Given the description of an element on the screen output the (x, y) to click on. 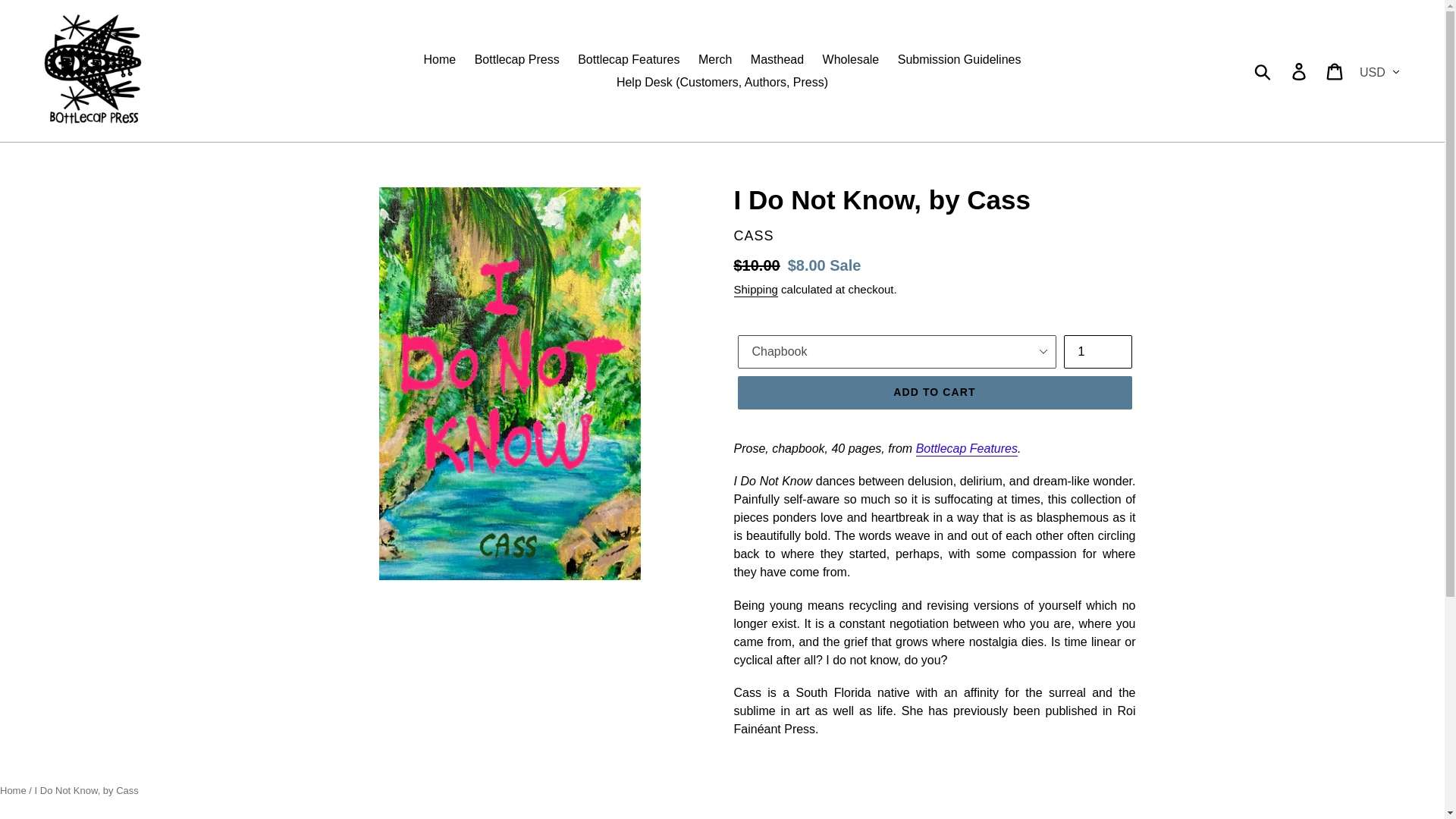
I Do Not Know, by Cass (86, 790)
Submission Guidelines (959, 59)
Shipping (755, 289)
Home (13, 790)
Bottlecap Features (628, 59)
Cart (1335, 70)
Home (440, 59)
Bottlecap Press (517, 59)
Wholesale (850, 59)
Merch (714, 59)
1 (1096, 351)
Bottlecap Features (966, 449)
ADD TO CART (933, 392)
Log in (1299, 70)
Submit (1263, 70)
